Given the description of an element on the screen output the (x, y) to click on. 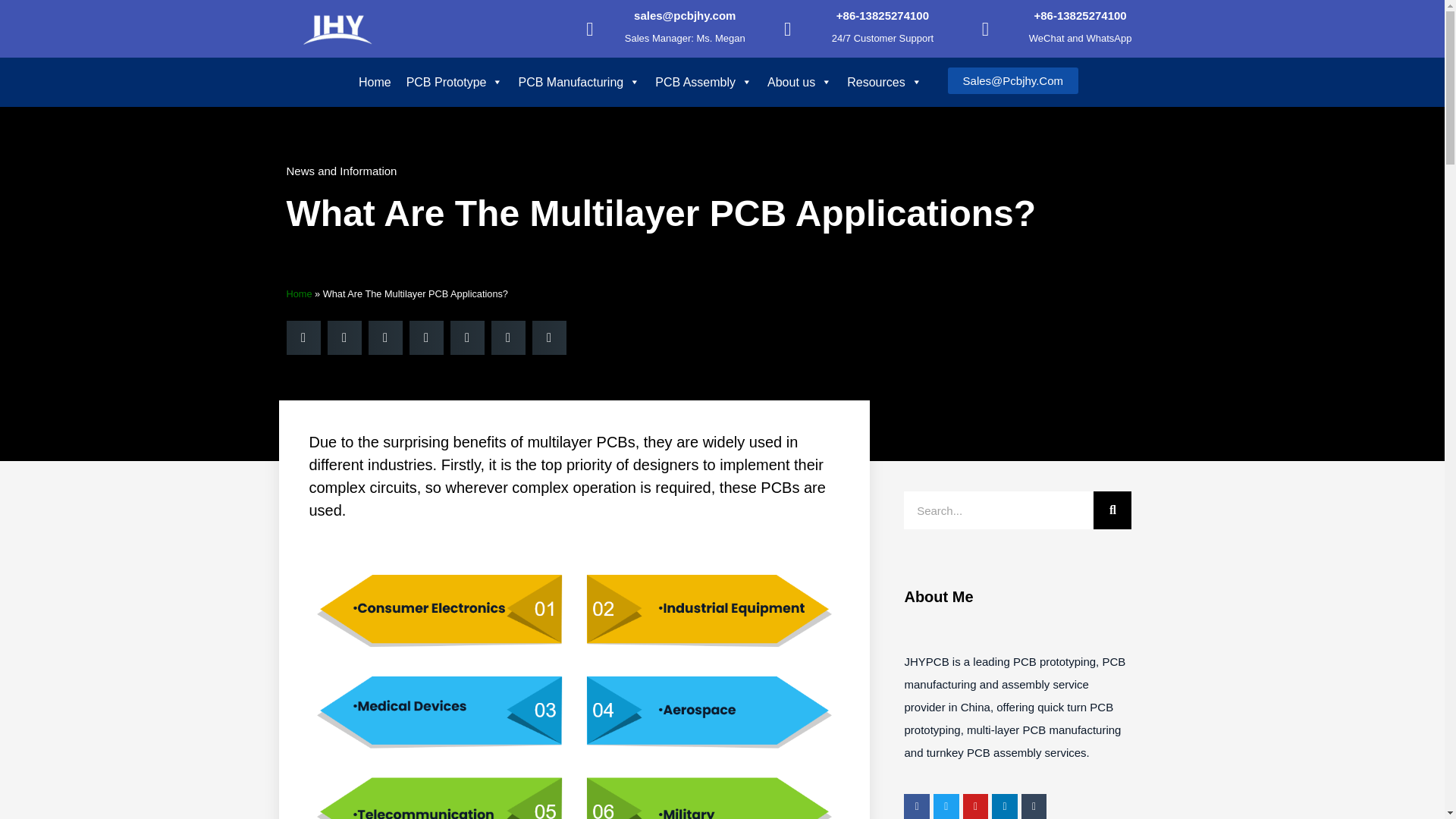
PCB Assembly (703, 82)
PCB Prototype (454, 82)
PCB Manufacturing (579, 82)
Home (374, 82)
